Given the description of an element on the screen output the (x, y) to click on. 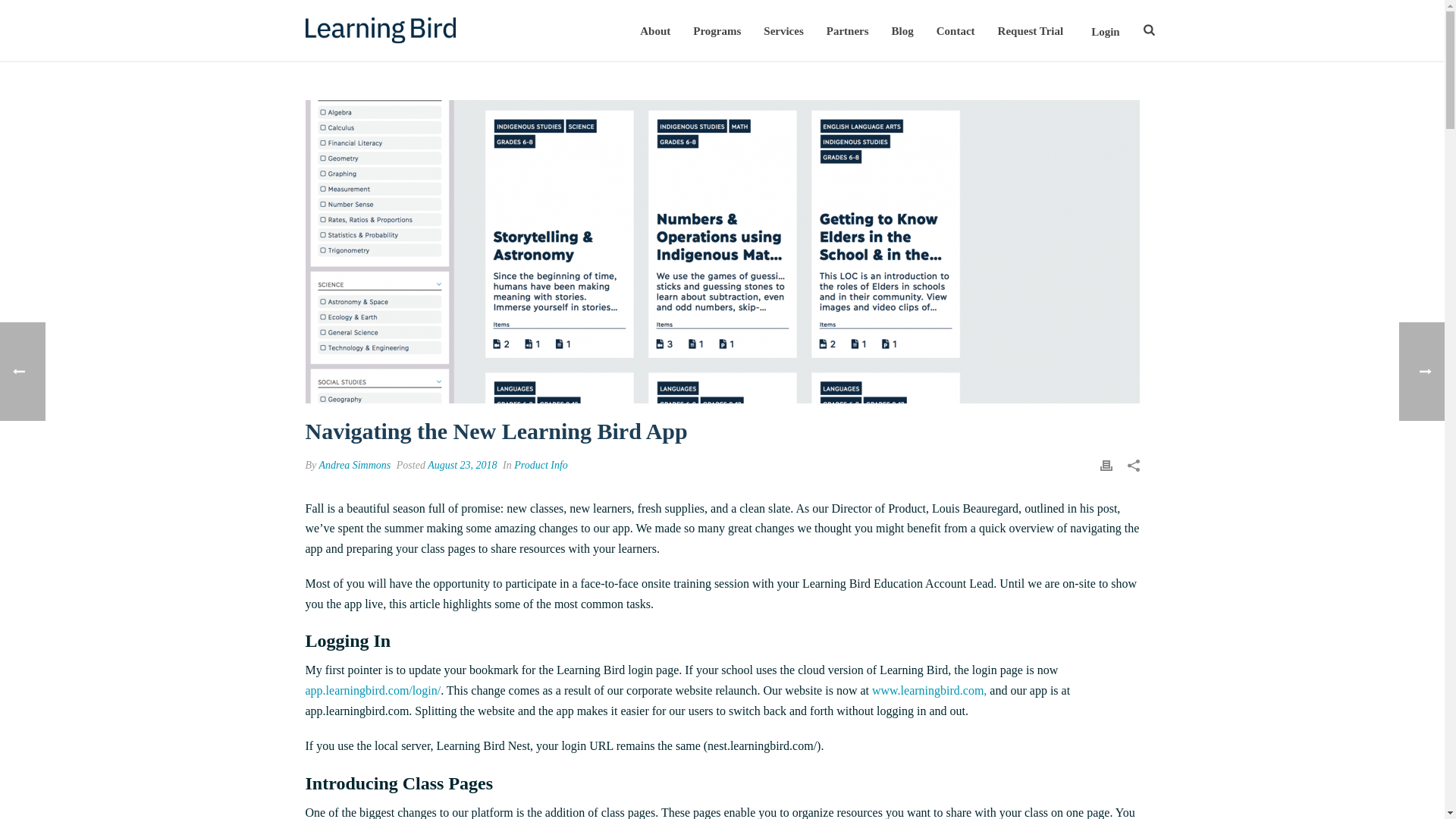
Login (1105, 32)
Services (782, 30)
Blog (902, 30)
Login (1105, 32)
Blog (902, 30)
Partners (847, 30)
Andrea Simmons (354, 464)
Programs (716, 30)
Partners (847, 30)
Services (782, 30)
Contact (955, 30)
Request Trial (1031, 30)
About (654, 30)
Product Info (540, 464)
